Given the description of an element on the screen output the (x, y) to click on. 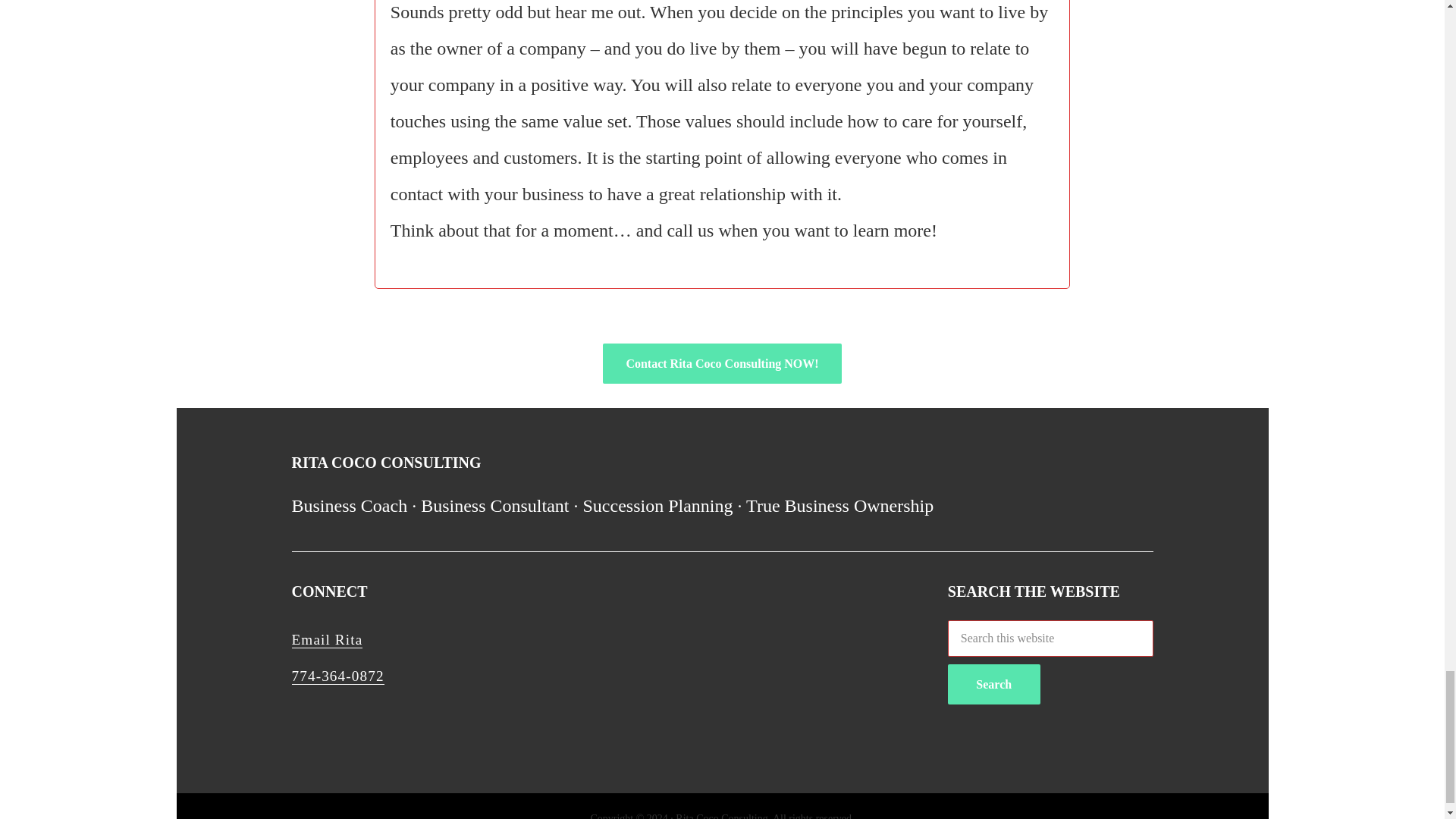
Contact Rita Coco Consulting NOW! (721, 363)
Search (994, 684)
Search (994, 684)
Email Rita (326, 639)
Search (994, 684)
774-364-0872 (337, 676)
